Given the description of an element on the screen output the (x, y) to click on. 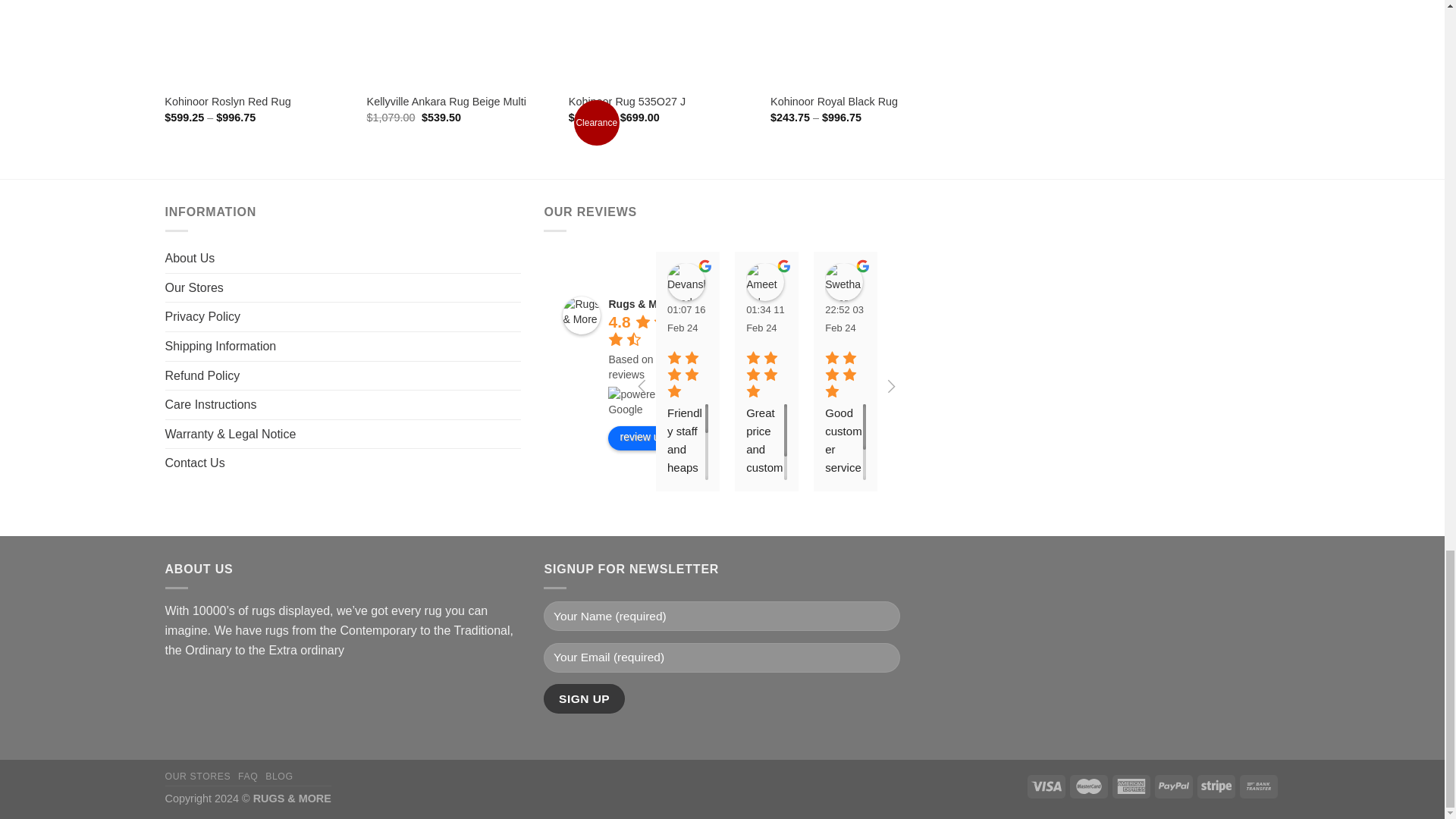
Sign Up (583, 698)
